Given the description of an element on the screen output the (x, y) to click on. 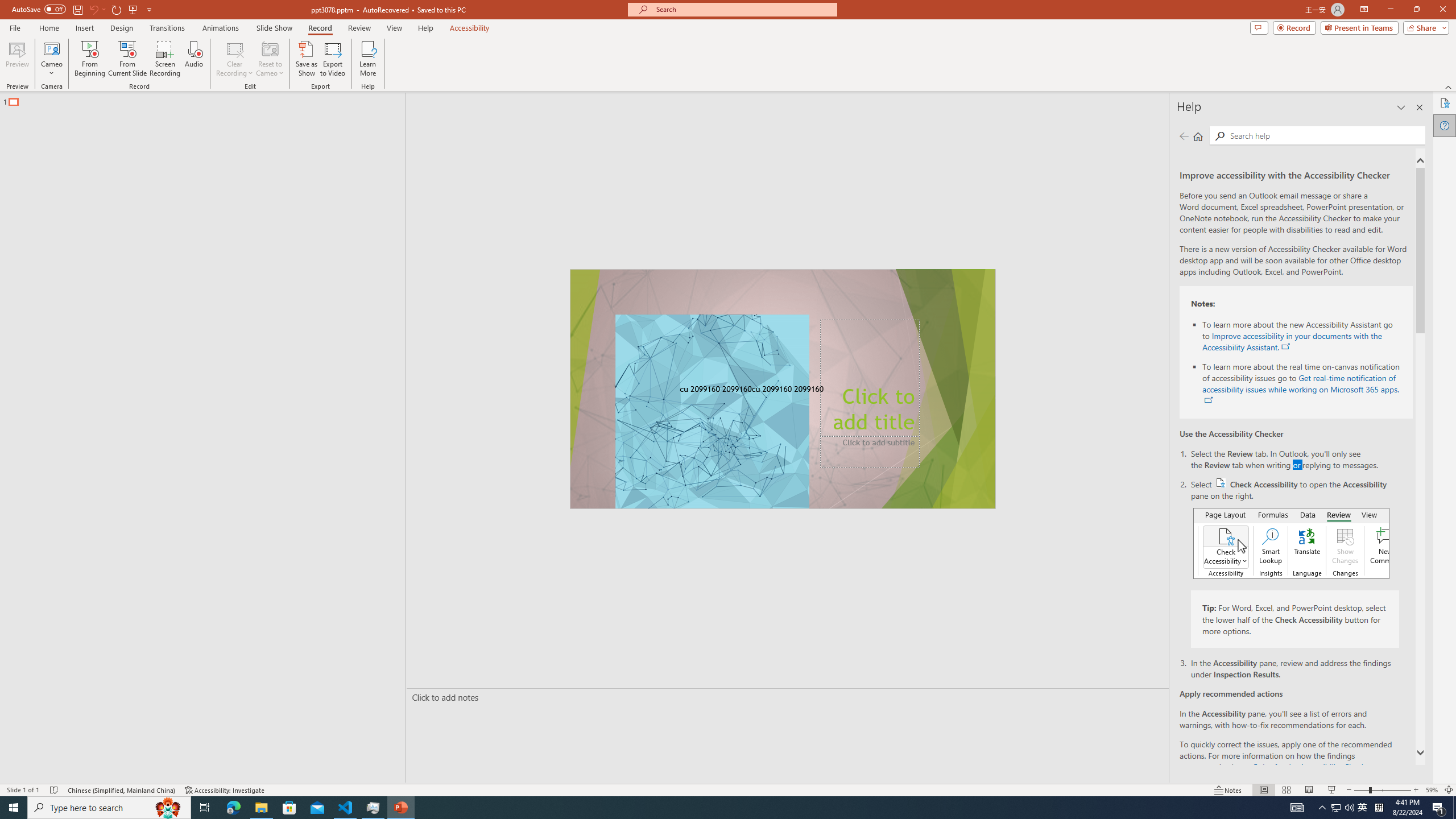
Rules for the Accessibility Checker (1310, 766)
